Given the description of an element on the screen output the (x, y) to click on. 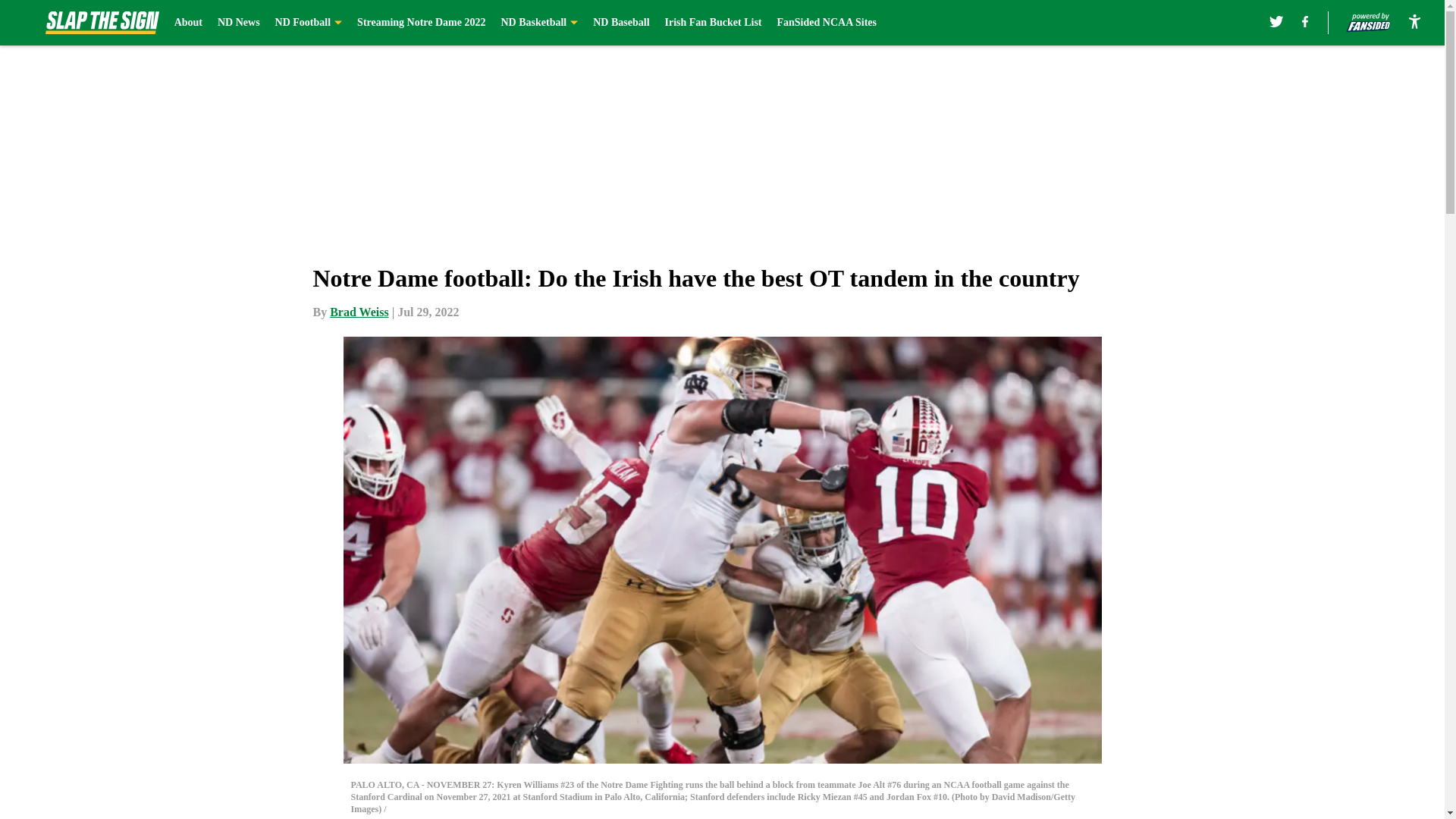
Brad Weiss (359, 311)
Streaming Notre Dame 2022 (420, 22)
Irish Fan Bucket List (713, 22)
ND Baseball (620, 22)
About (188, 22)
ND News (238, 22)
FanSided NCAA Sites (826, 22)
